Given the description of an element on the screen output the (x, y) to click on. 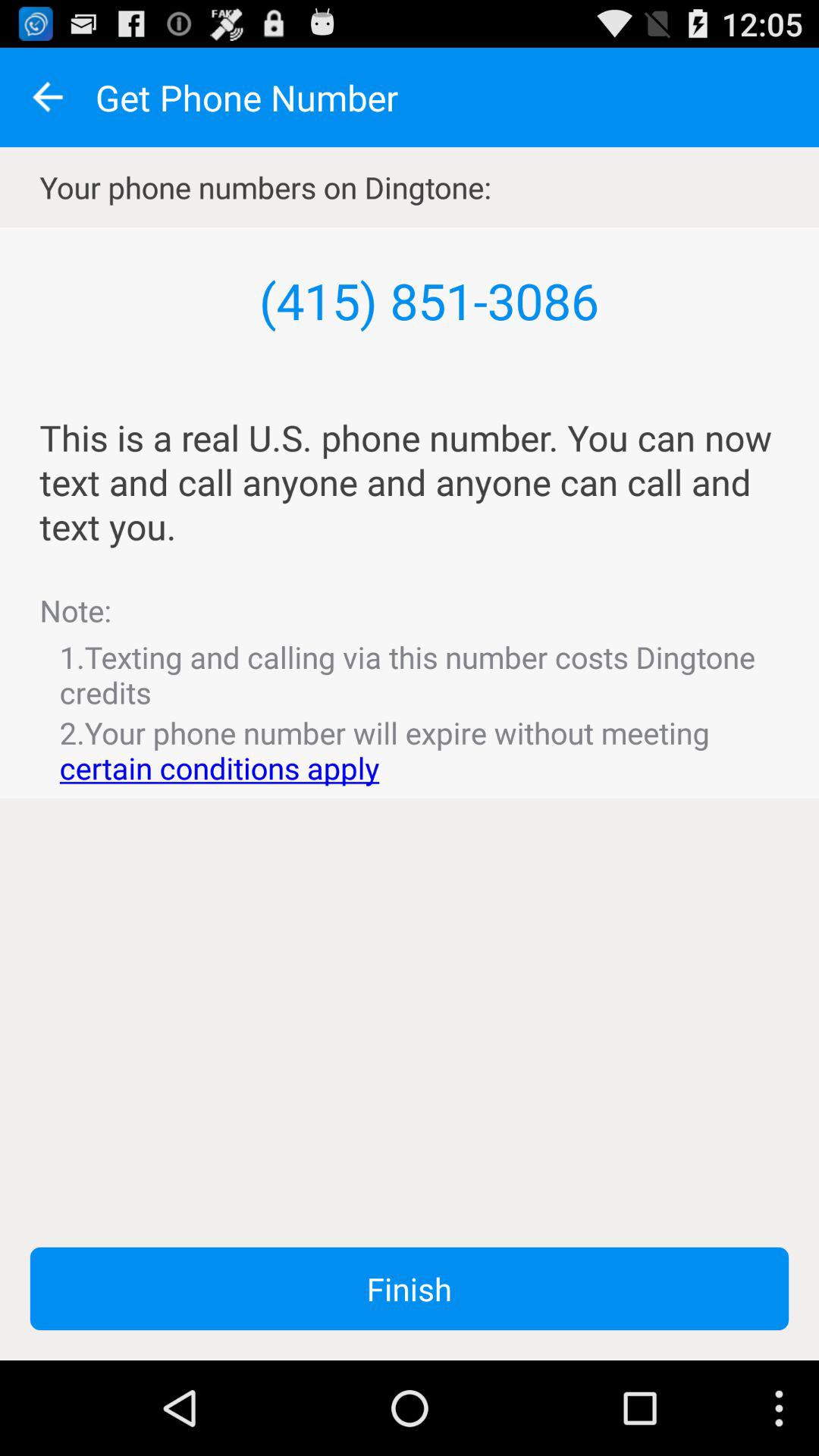
select finish icon (409, 1288)
